Given the description of an element on the screen output the (x, y) to click on. 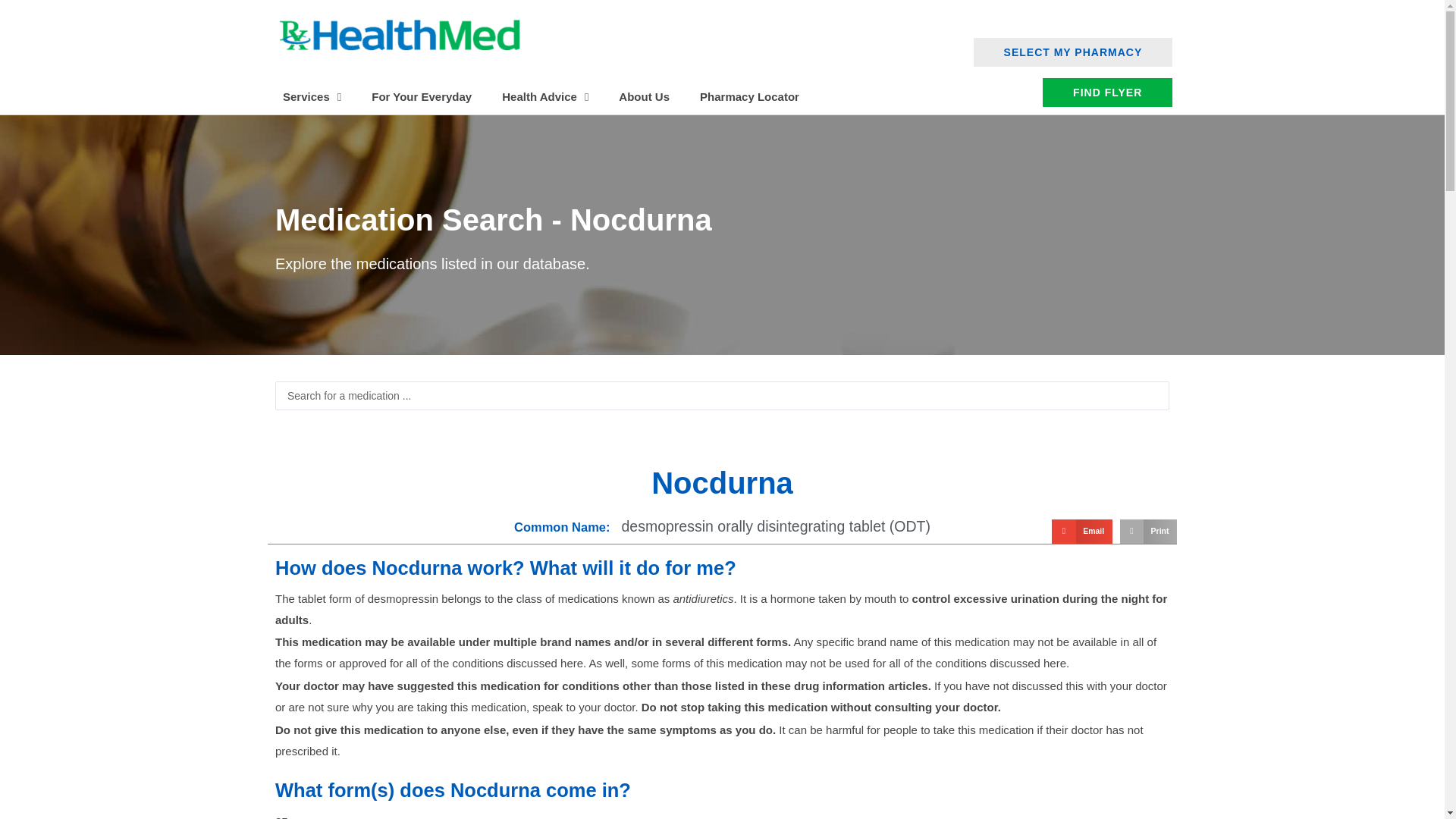
Health Advice (545, 96)
Services (311, 96)
SELECT MY PHARMACY (1073, 51)
For Your Everyday (421, 96)
Pharmacy Locator (748, 96)
About Us (644, 96)
FIND FLYER (1107, 92)
